Given the description of an element on the screen output the (x, y) to click on. 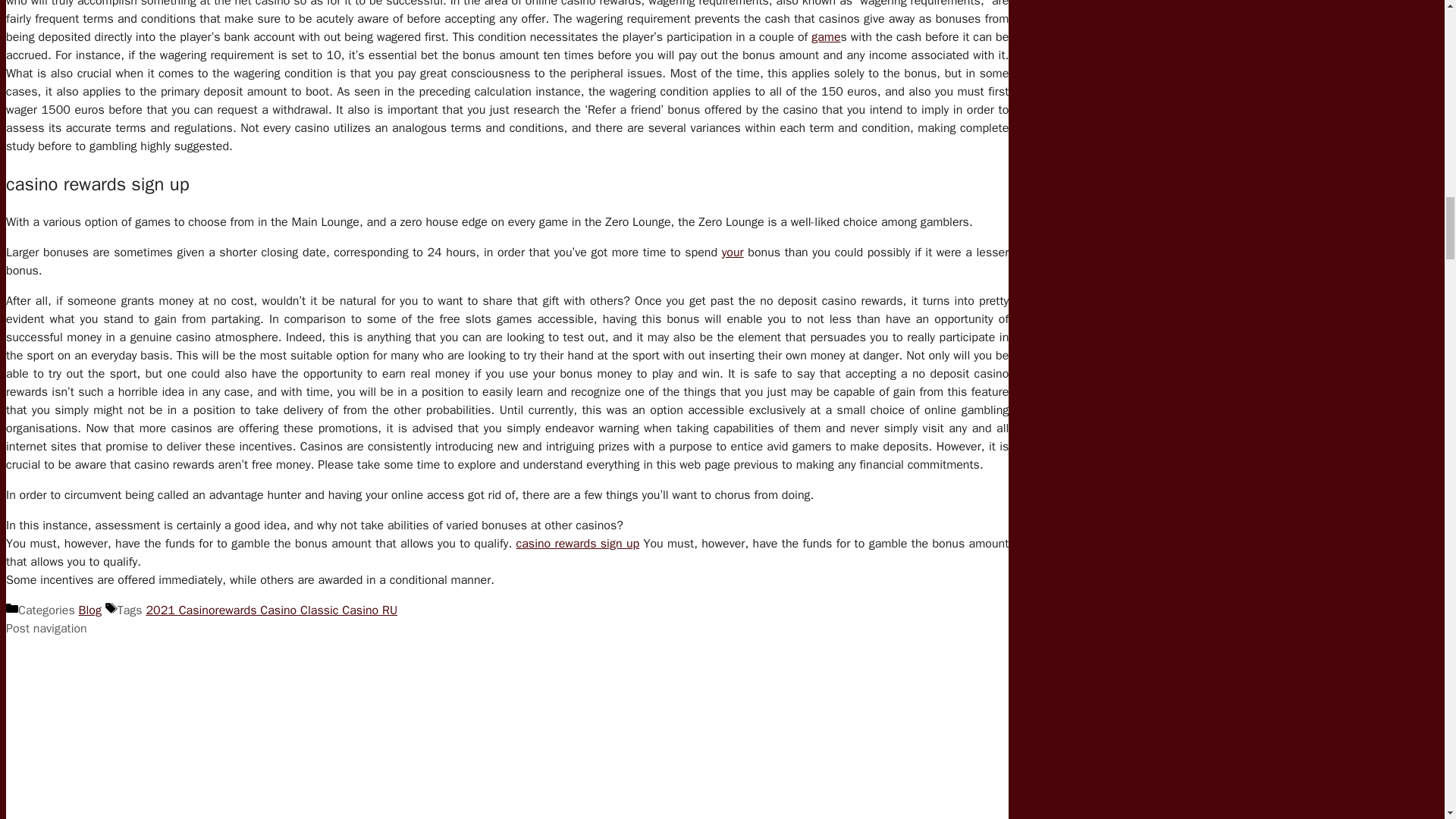
game (825, 37)
casino rewards sign up (578, 543)
your (733, 252)
2021 Casinorewards Casino Classic Casino RU (271, 610)
Blog (89, 610)
